Given the description of an element on the screen output the (x, y) to click on. 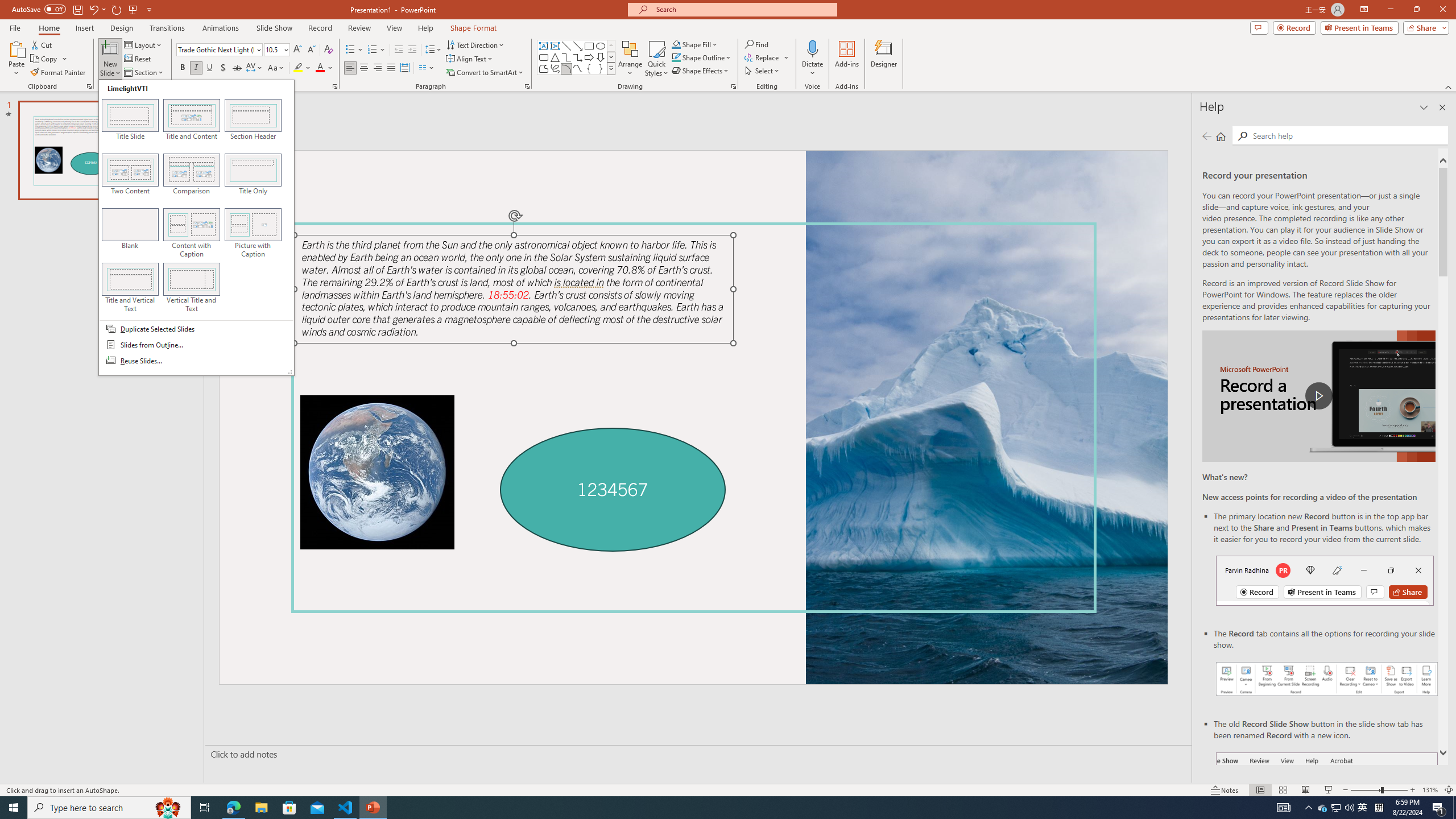
Previous page (1206, 136)
Shape Effects (700, 69)
